Given the description of an element on the screen output the (x, y) to click on. 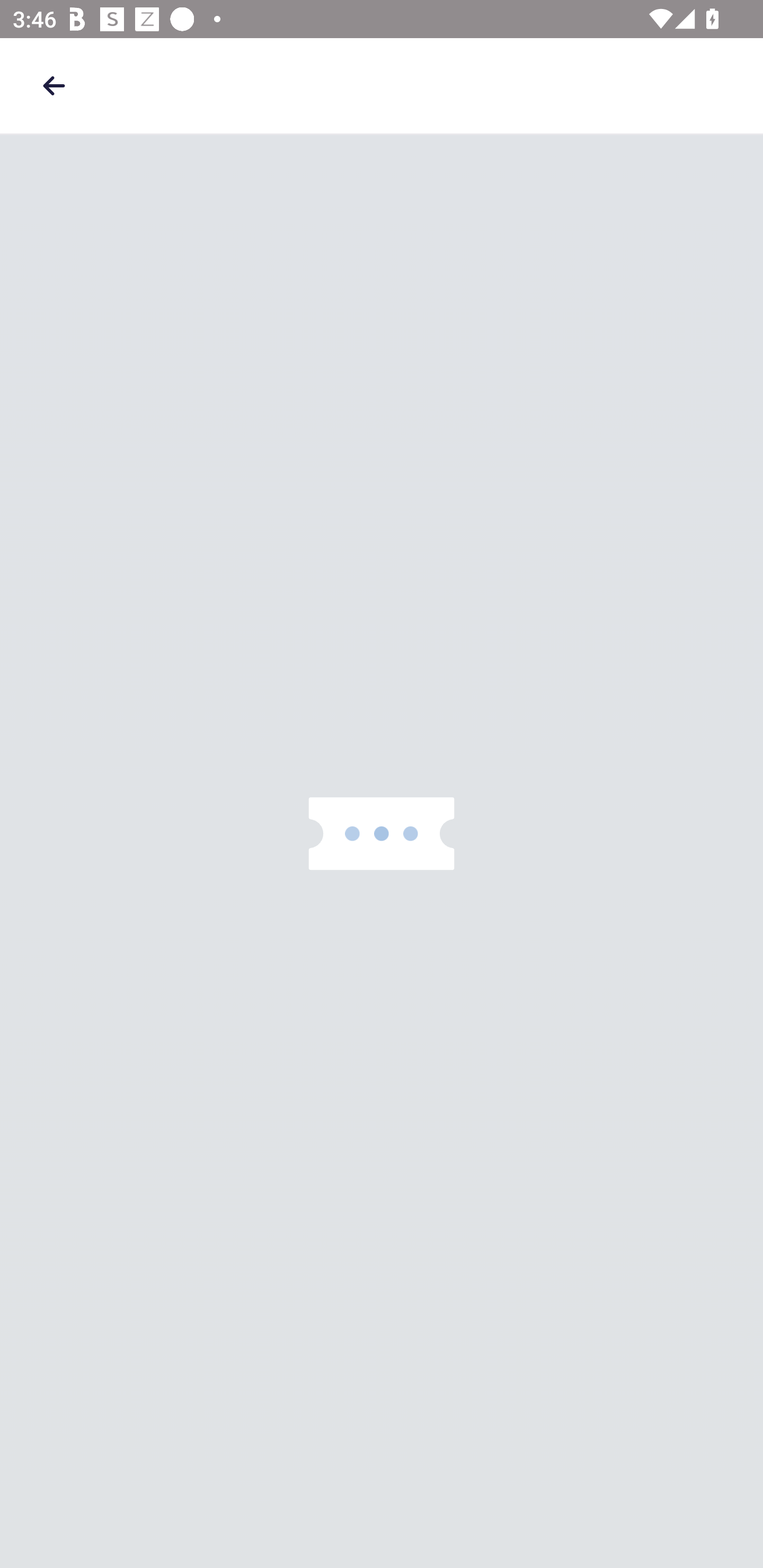
back button (53, 85)
